Given the description of an element on the screen output the (x, y) to click on. 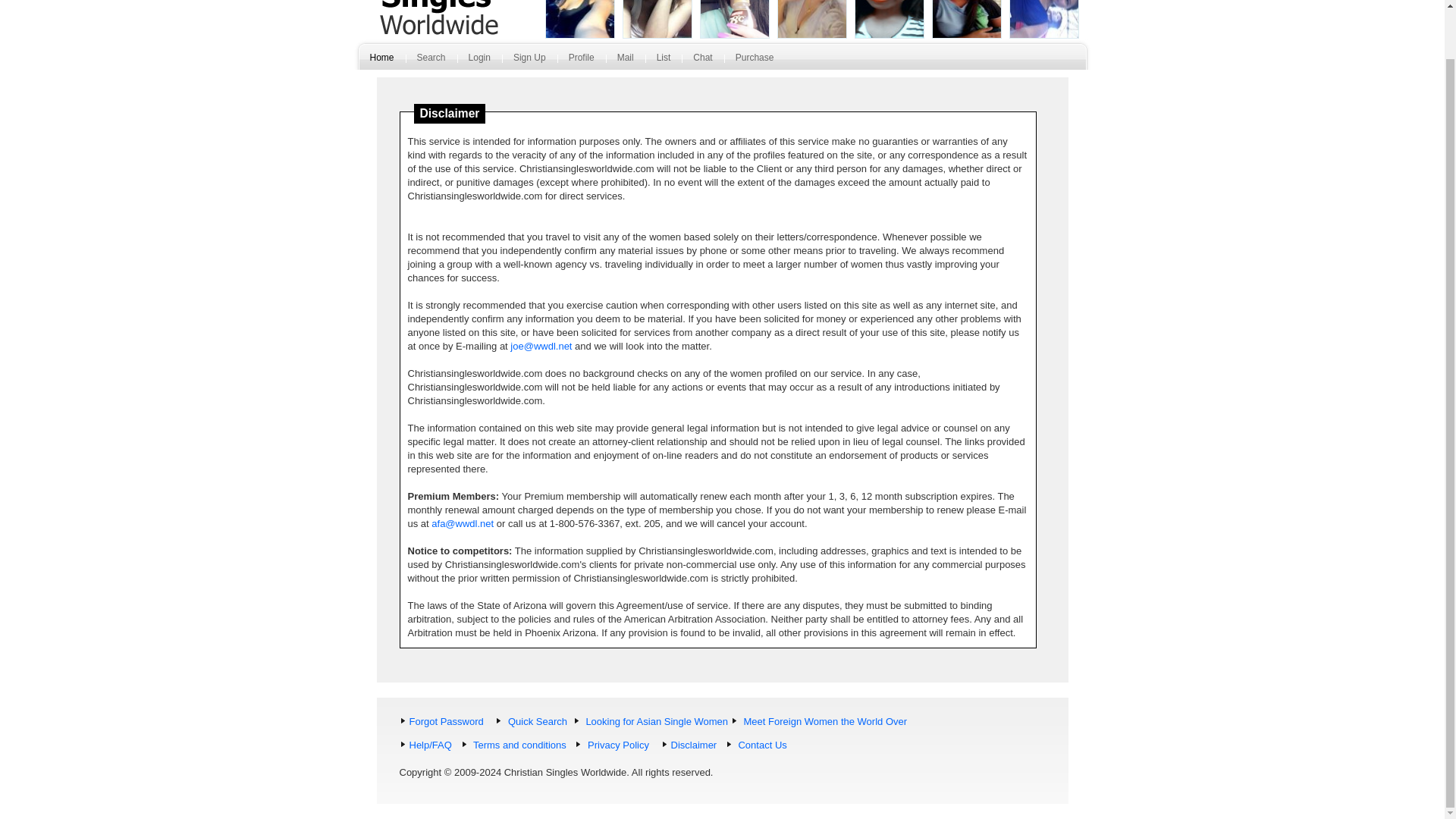
Sign Up (529, 60)
Purchase (754, 60)
Profile (581, 60)
Search (430, 60)
Sign Up (529, 60)
Profile (581, 60)
